Given the description of an element on the screen output the (x, y) to click on. 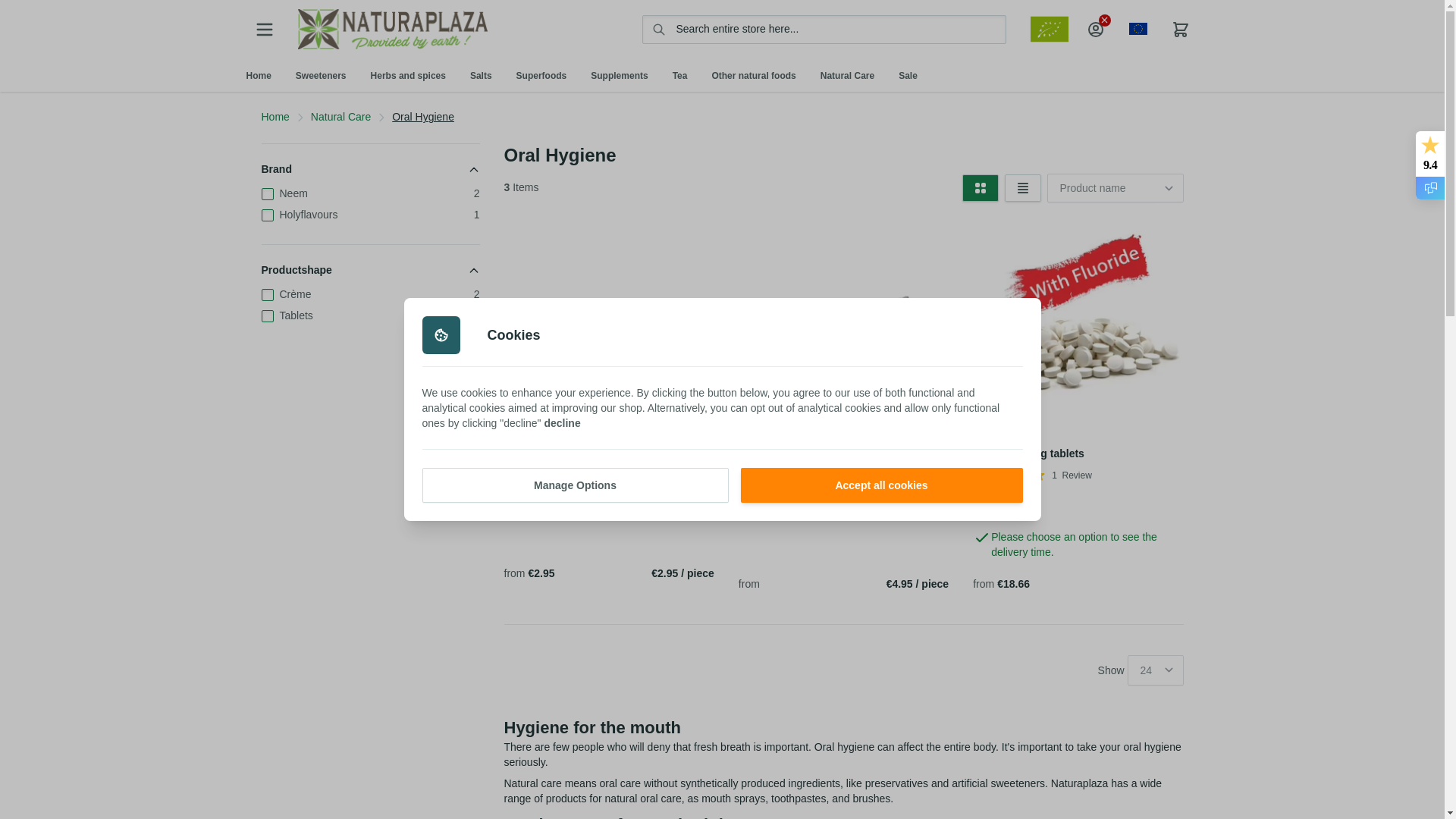
Cart (1179, 29)
Sweeteners (320, 75)
5719 (998, 505)
Home (257, 75)
Sweeteners (320, 75)
Herbs and spices (408, 75)
Herbs and spices (408, 75)
Home (257, 75)
Naturaplaza (391, 29)
